Given the description of an element on the screen output the (x, y) to click on. 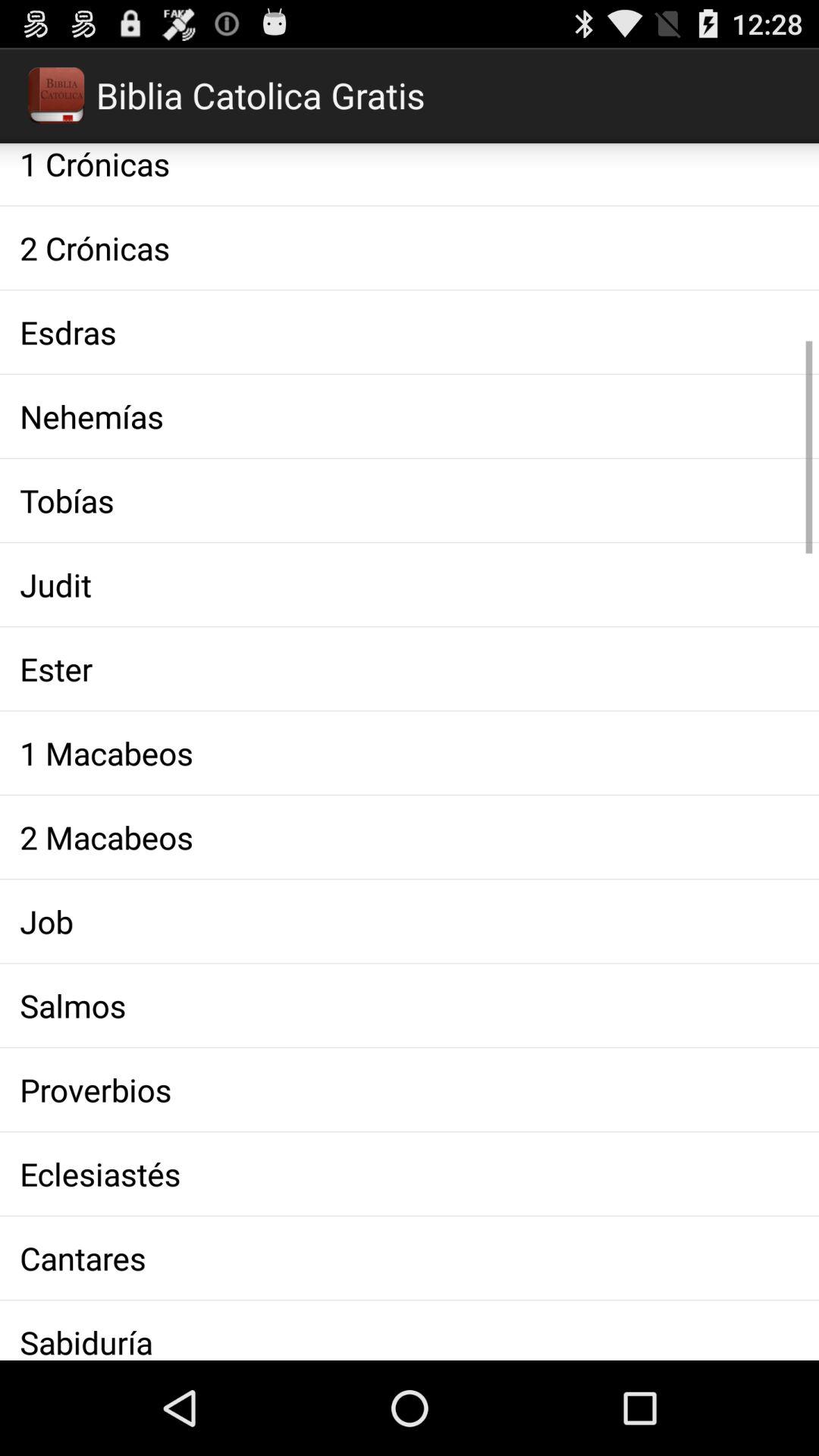
jump until cantares app (409, 1257)
